Given the description of an element on the screen output the (x, y) to click on. 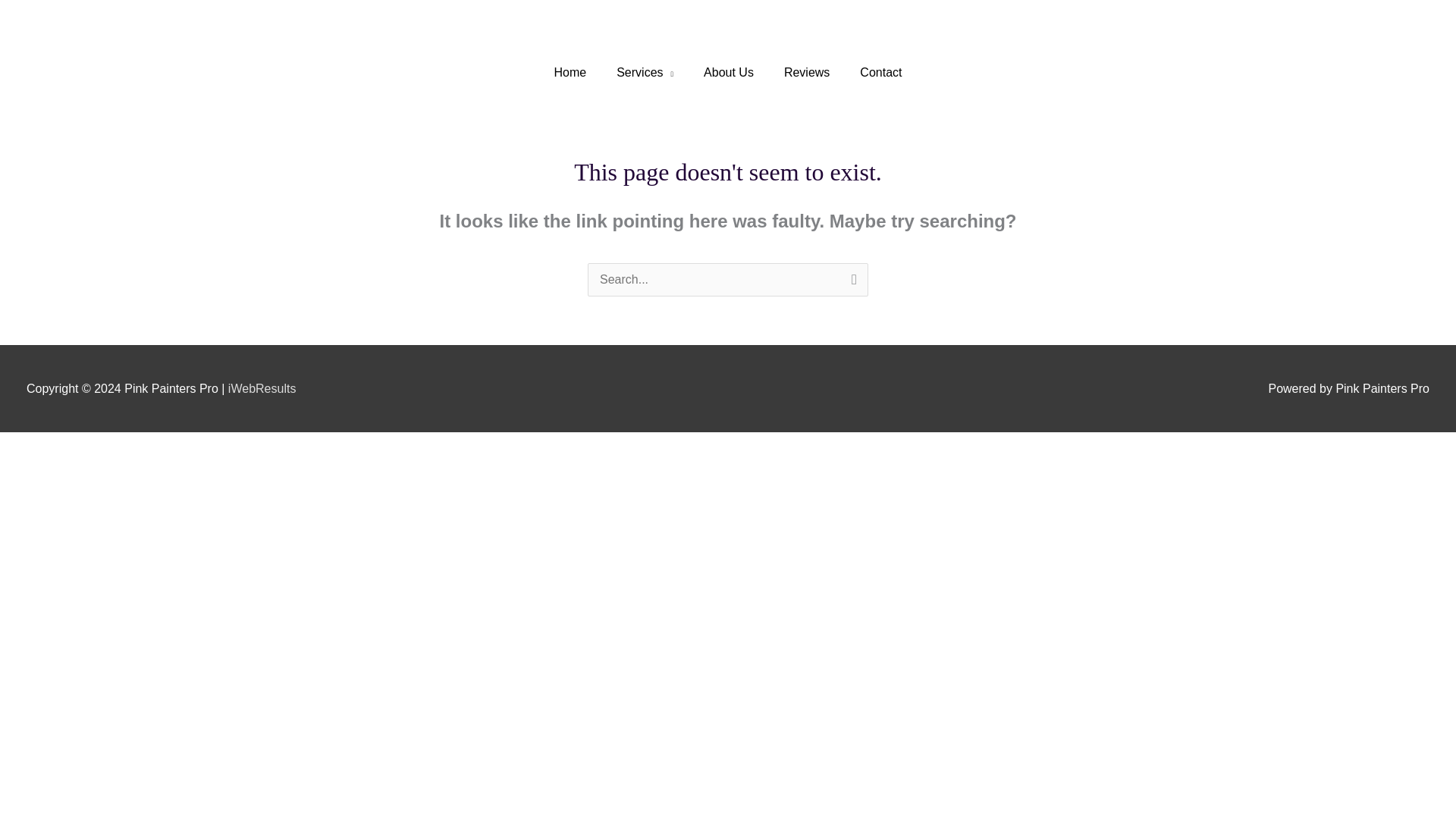
Home (569, 72)
Contact (880, 72)
iWebResults (262, 388)
Services (644, 72)
Reviews (806, 72)
About Us (728, 72)
